Given the description of an element on the screen output the (x, y) to click on. 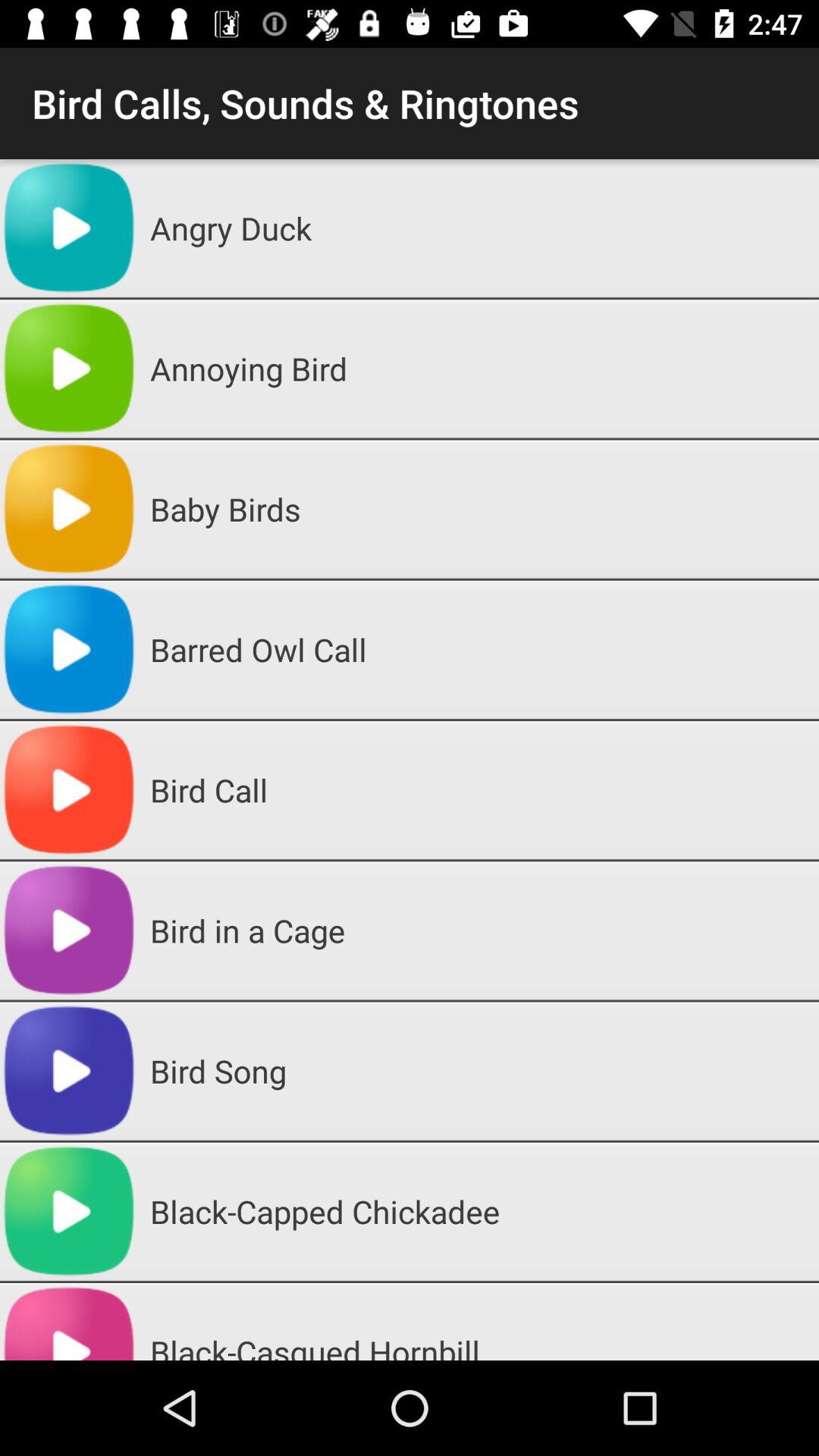
flip until baby birds app (478, 509)
